Given the description of an element on the screen output the (x, y) to click on. 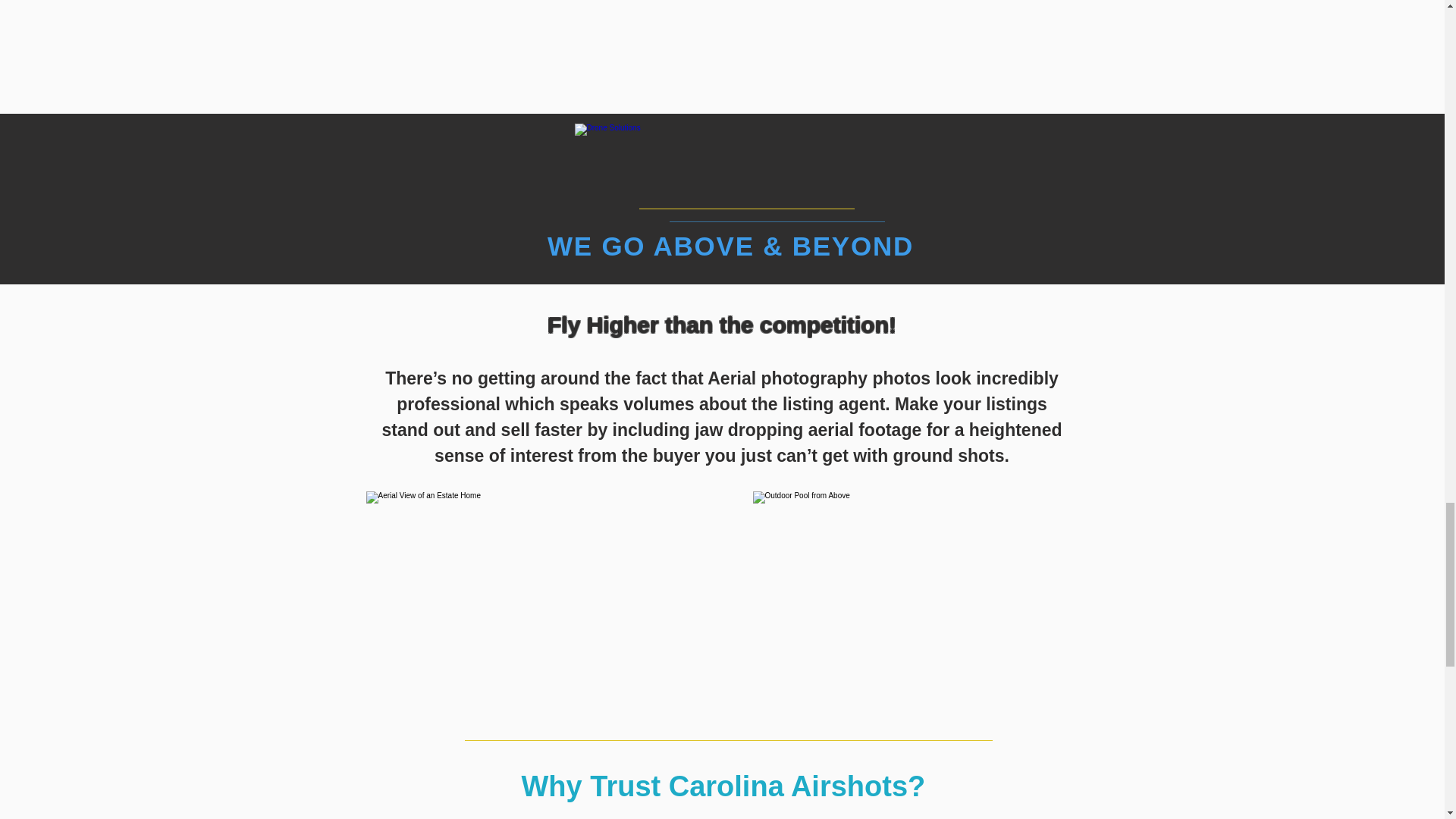
Dron Shots sell faster (554, 597)
Showcase Amenities to make the sale (912, 597)
Show buyers the community (713, 32)
